Given the description of an element on the screen output the (x, y) to click on. 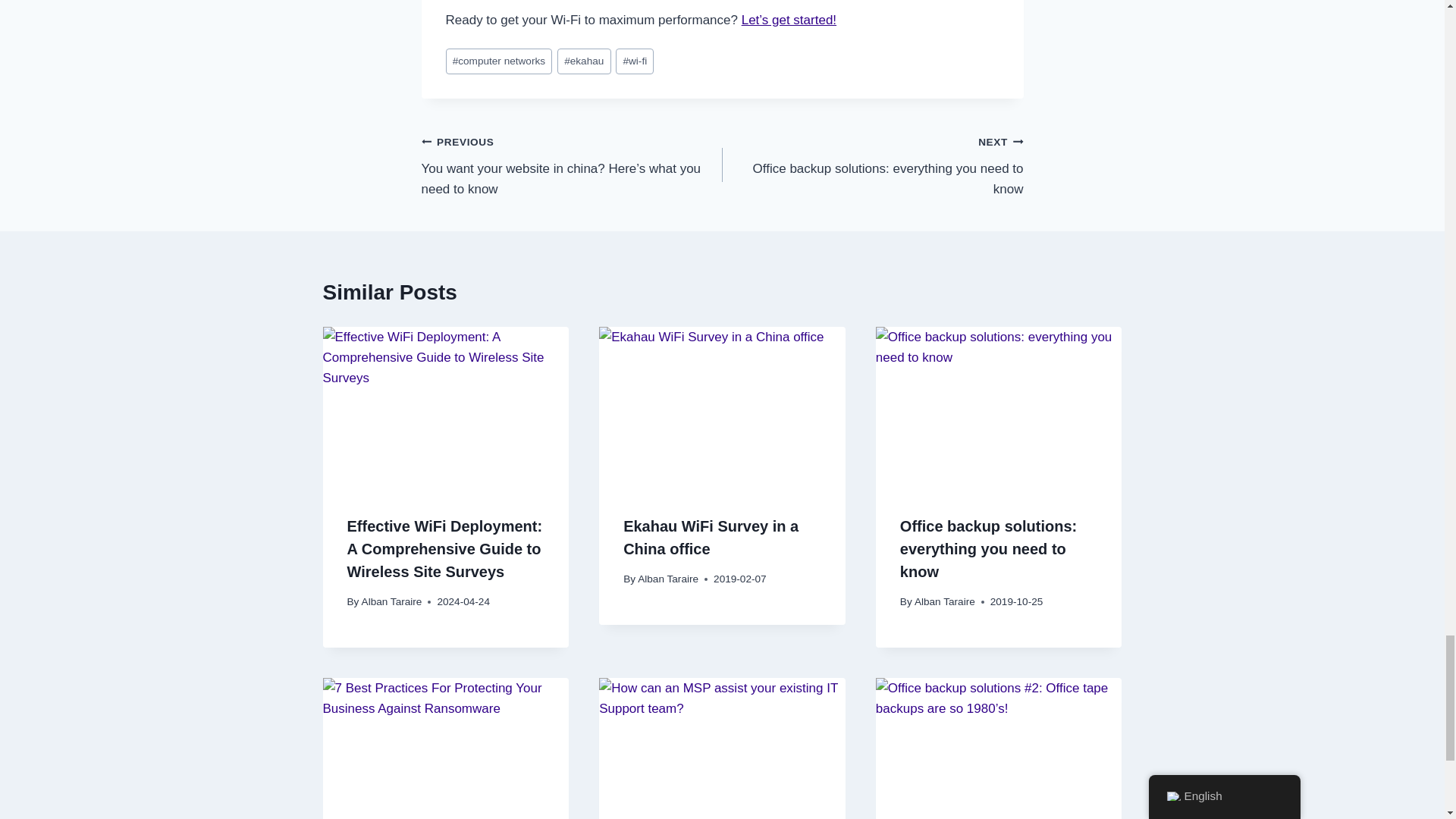
Alban Taraire (391, 601)
wi-fi (634, 61)
computer networks (872, 165)
ekahau (499, 61)
